Given the description of an element on the screen output the (x, y) to click on. 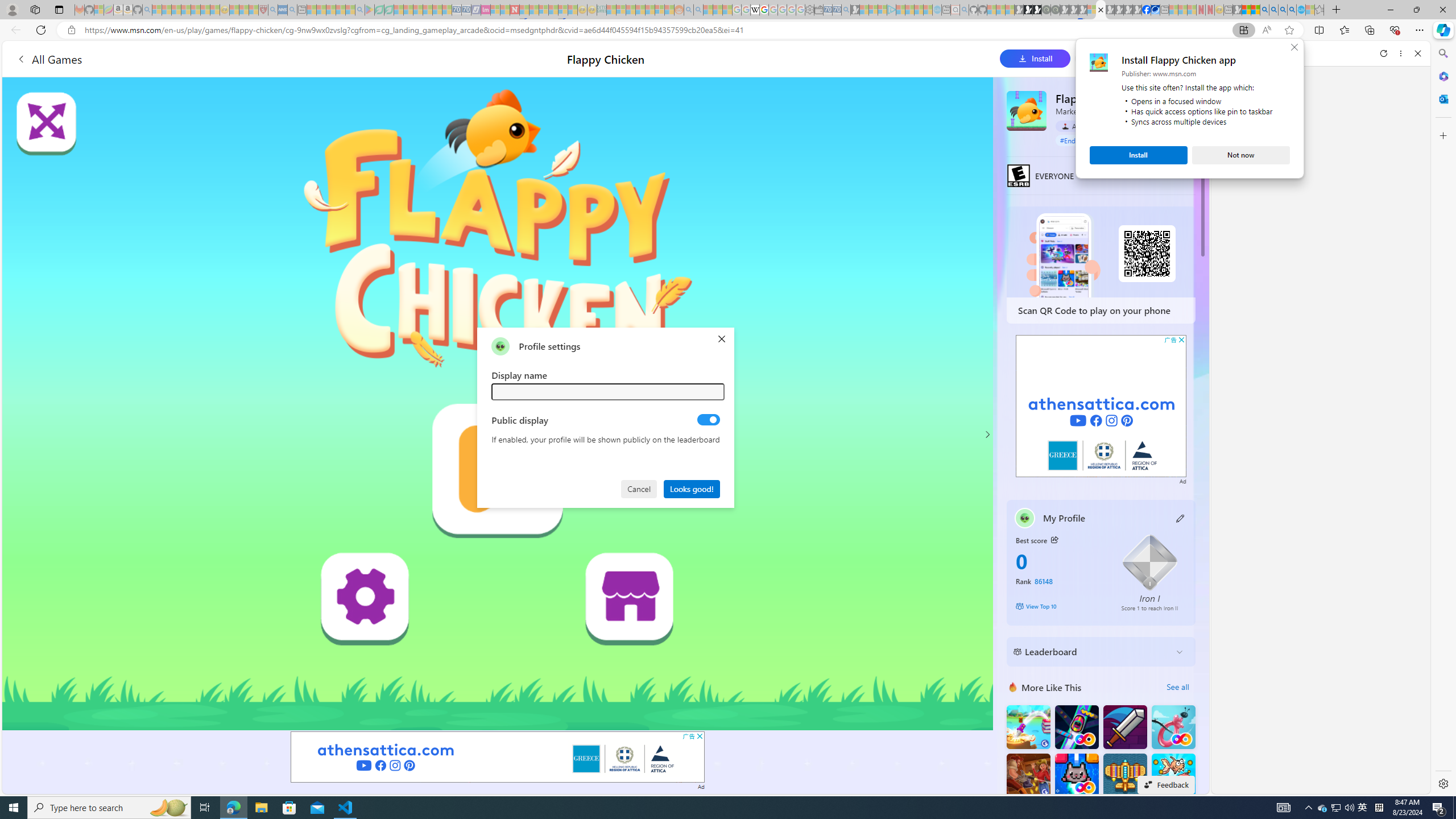
Services - Maintenance | Sky Blue Bikes - Sky Blue Bikes (1300, 9)
Action Center, 2 new notifications (1439, 807)
Looks good! (691, 488)
See all (1177, 687)
